Given the description of an element on the screen output the (x, y) to click on. 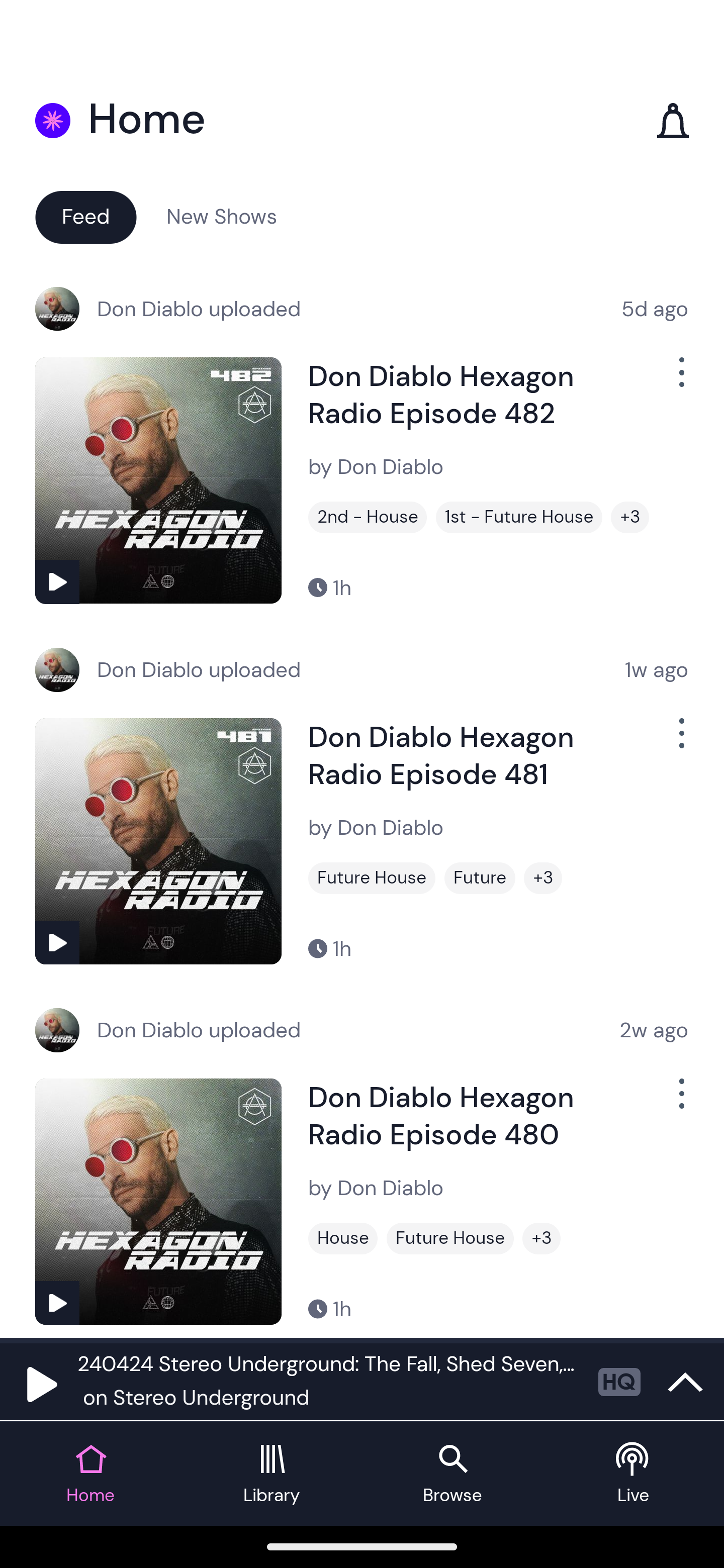
Feed (85, 216)
New Shows (221, 216)
Show Options Menu Button (679, 379)
2nd - House (367, 517)
1st - Future House (518, 517)
Show Options Menu Button (679, 740)
Future House (371, 877)
Future (479, 877)
Show Options Menu Button (679, 1101)
House (342, 1238)
Future House (450, 1238)
Home tab Home (90, 1473)
Library tab Library (271, 1473)
Browse tab Browse (452, 1473)
Live tab Live (633, 1473)
